Given the description of an element on the screen output the (x, y) to click on. 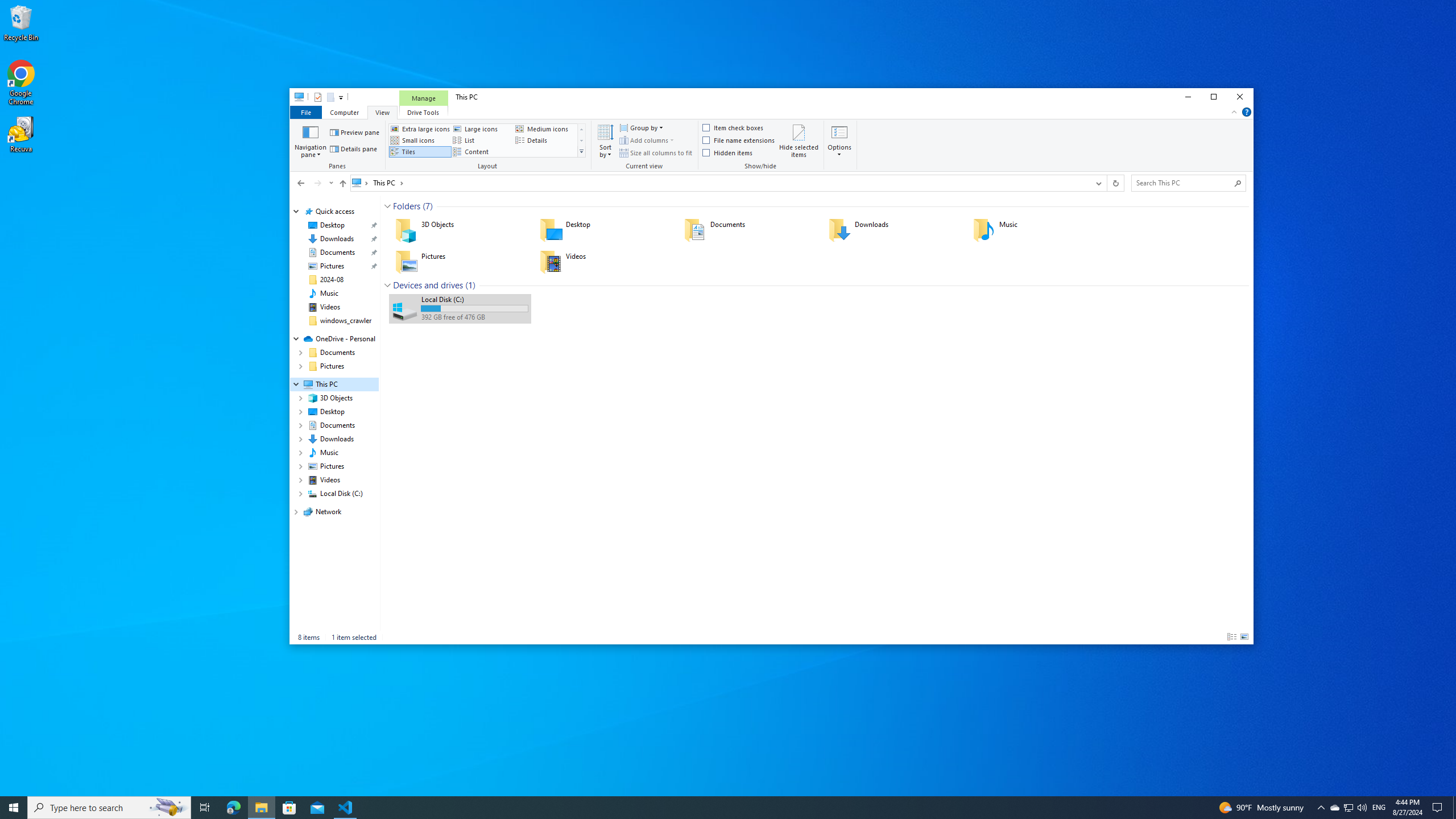
Search (1238, 182)
Sort by (605, 140)
Computer (343, 111)
Item check boxes (733, 128)
Downloads (892, 229)
Large Icons (1243, 636)
Desktop (pinned) (332, 224)
Small icons (419, 140)
Row down (580, 140)
Large icons (482, 129)
Downloads (pinned) (336, 238)
